Given the description of an element on the screen output the (x, y) to click on. 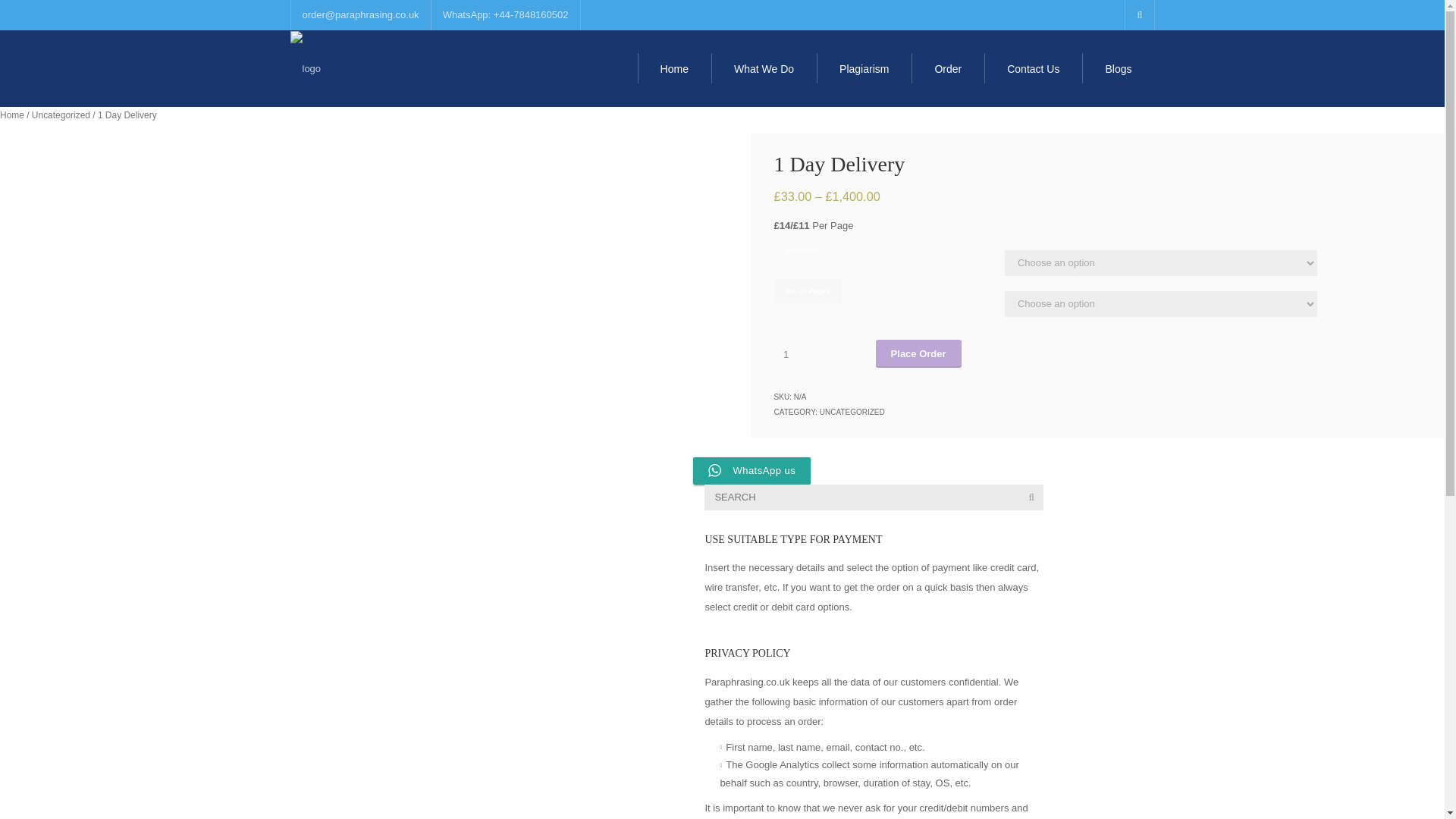
Blogs (1117, 68)
UNCATEGORIZED (852, 411)
Plagiarism (863, 68)
1 (791, 354)
What We Do (763, 68)
Contact Us (1032, 68)
Order (947, 68)
Home (12, 114)
Uncategorized (61, 114)
Home (674, 68)
